Given the description of an element on the screen output the (x, y) to click on. 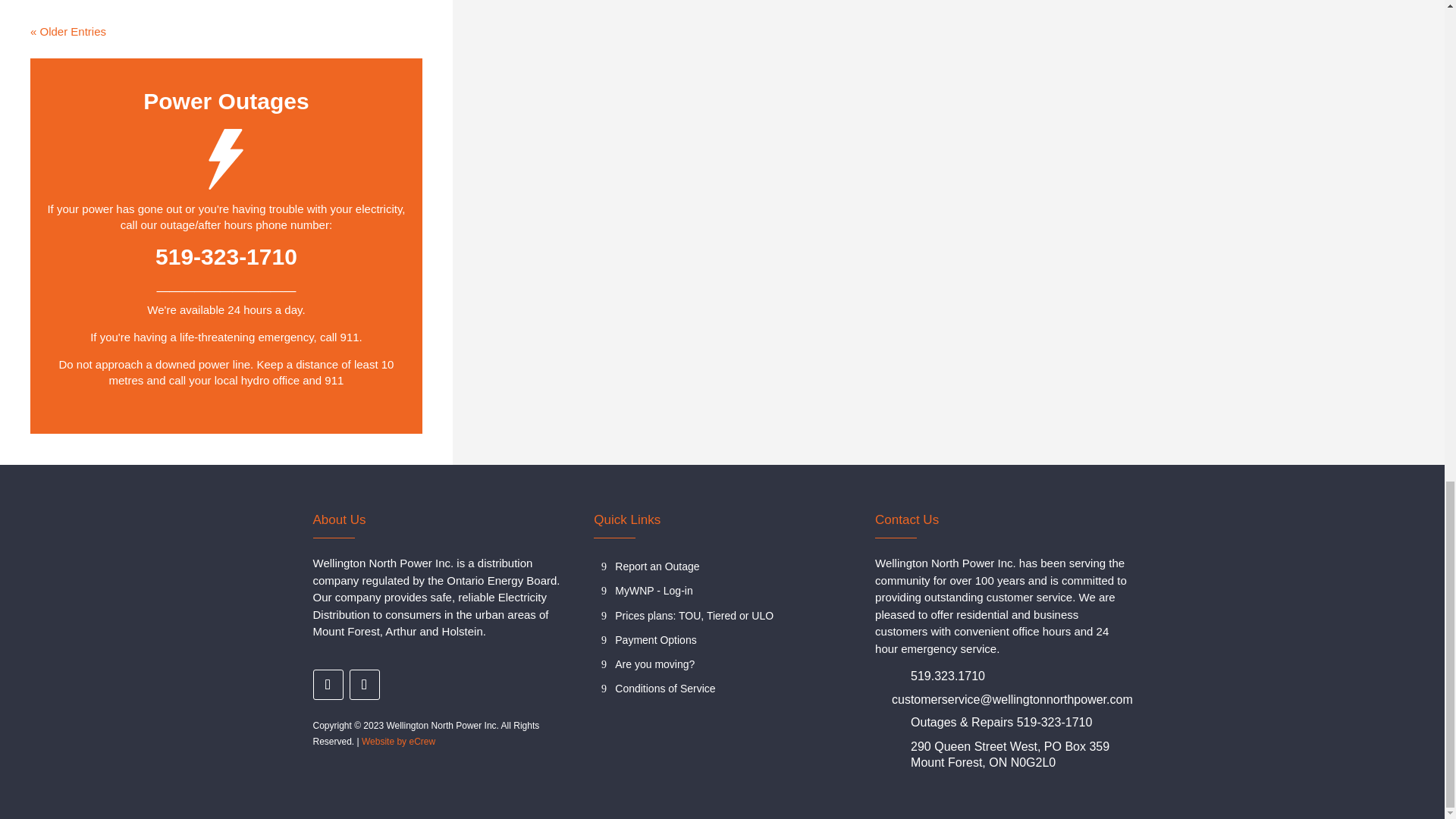
Follow on Twitter (363, 684)
Follow on Facebook (327, 684)
